Given the description of an element on the screen output the (x, y) to click on. 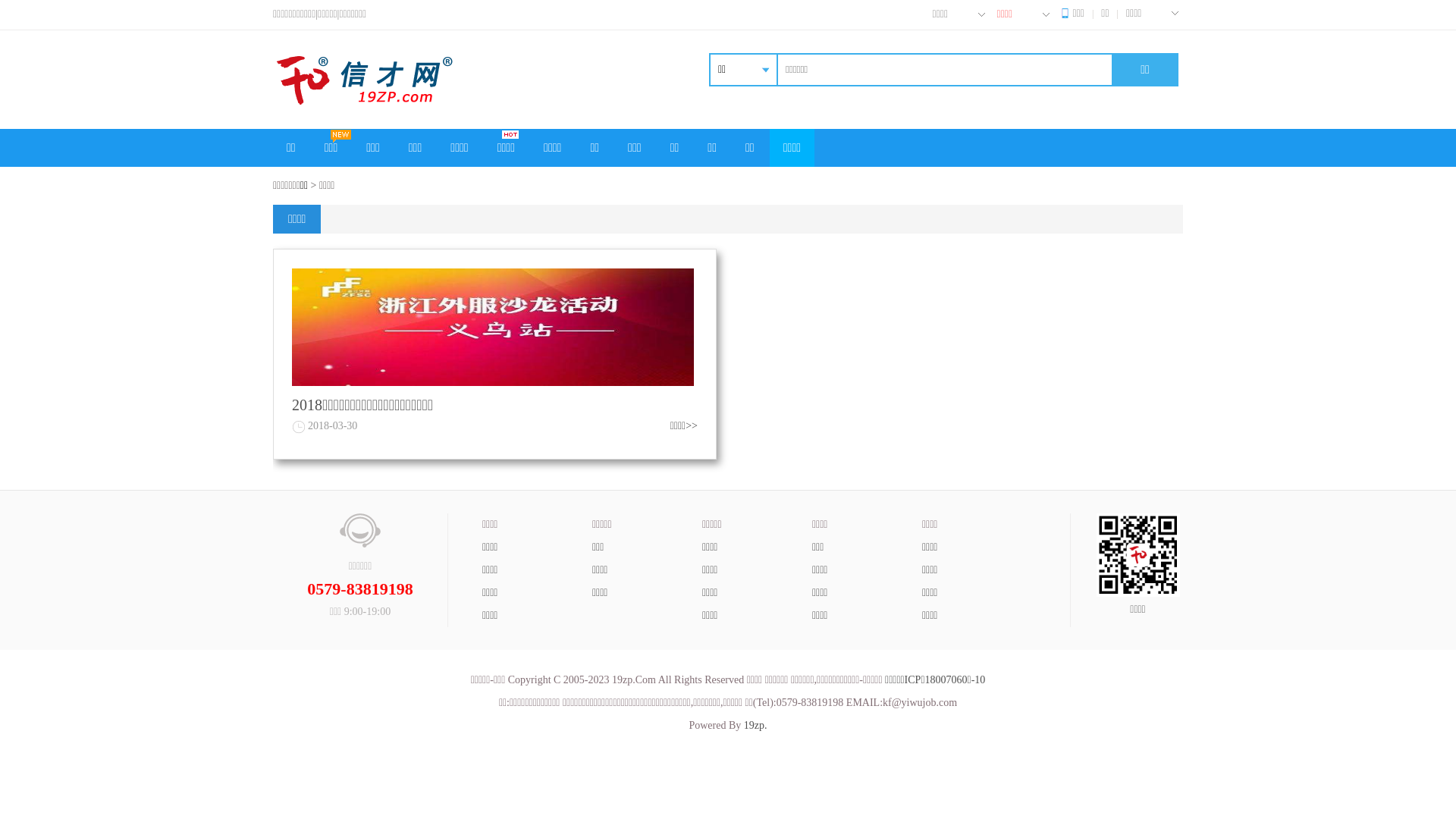
19zp. Element type: text (755, 725)
